Given the description of an element on the screen output the (x, y) to click on. 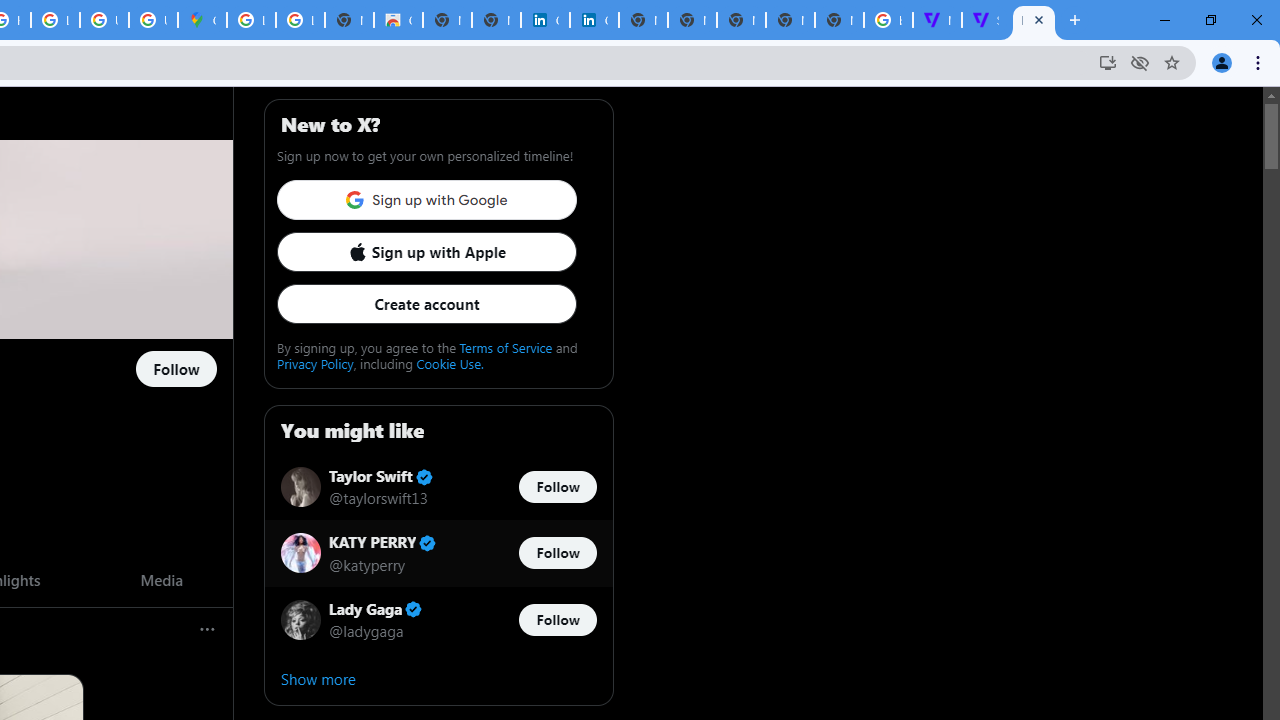
KATY PERRY Verified account @katyperry Follow @katyperry (438, 552)
Cookie Use. (449, 363)
Taylor Swift Verified account (380, 476)
Verified account (413, 609)
Follow @katyperry (557, 553)
Google Maps (201, 20)
Follow @MileyCyrus (176, 369)
@ladygaga (366, 629)
Lady Gaga Verified account @ladygaga Follow @ladygaga (438, 619)
New Tab (839, 20)
Media (160, 579)
